Given the description of an element on the screen output the (x, y) to click on. 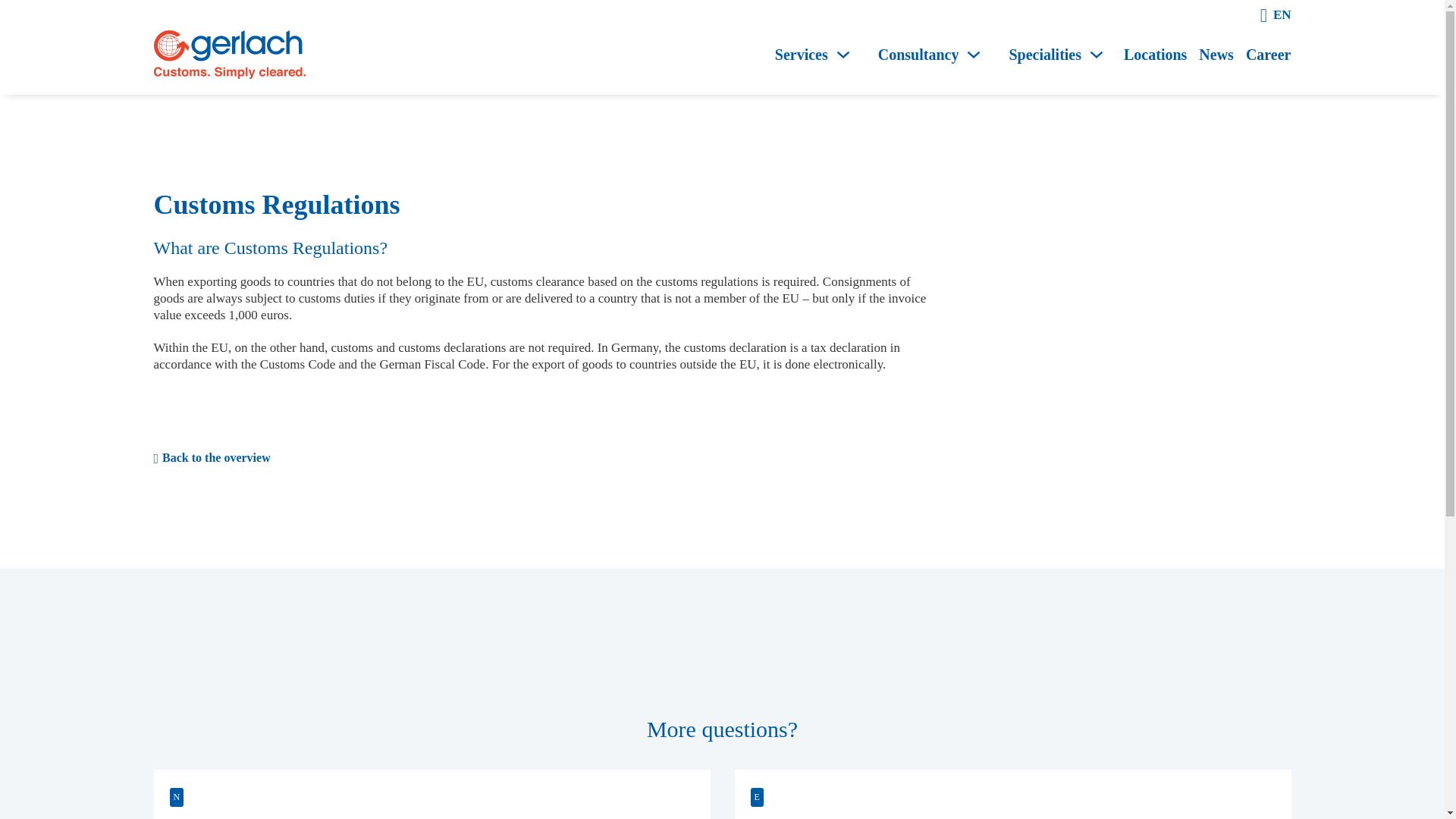
EN (1281, 14)
Services (801, 54)
Specialities (1045, 54)
News (1215, 54)
Consultancy (918, 54)
Locations (1155, 54)
Back to the overview (541, 458)
Career (1268, 54)
